Given the description of an element on the screen output the (x, y) to click on. 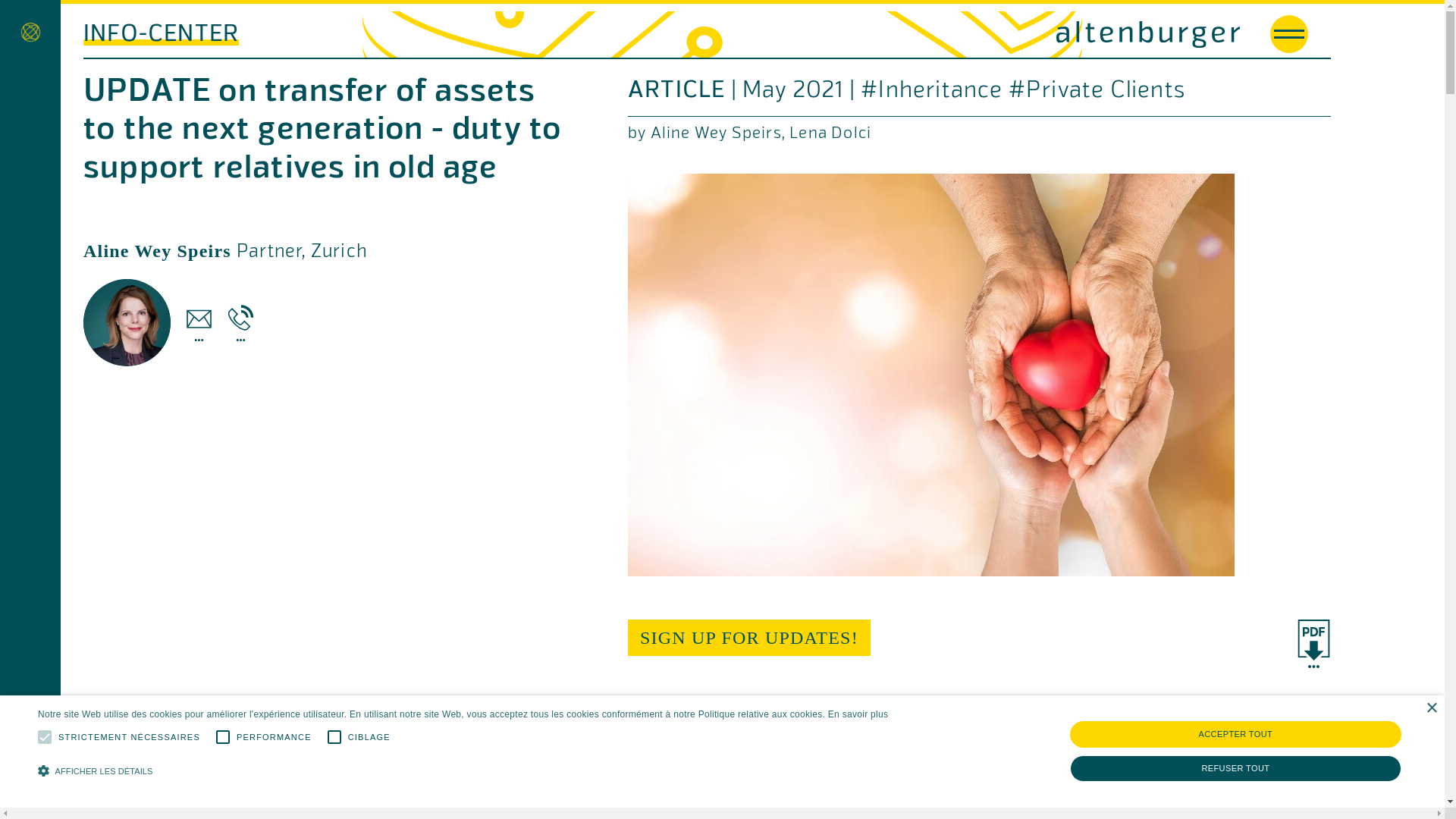
SIGN UP FOR UPDATES! Element type: text (748, 637)
En savoir plus Element type: text (858, 714)
Aline Wey Speirs Partner, Zurich Element type: text (225, 258)
logo Element type: hover (980, 34)
portraint Element type: hover (126, 322)
email Element type: hover (198, 322)
CV als PDF drucken Element type: hover (1313, 642)
INFO-CENTER Element type: text (160, 31)
